Given the description of an element on the screen output the (x, y) to click on. 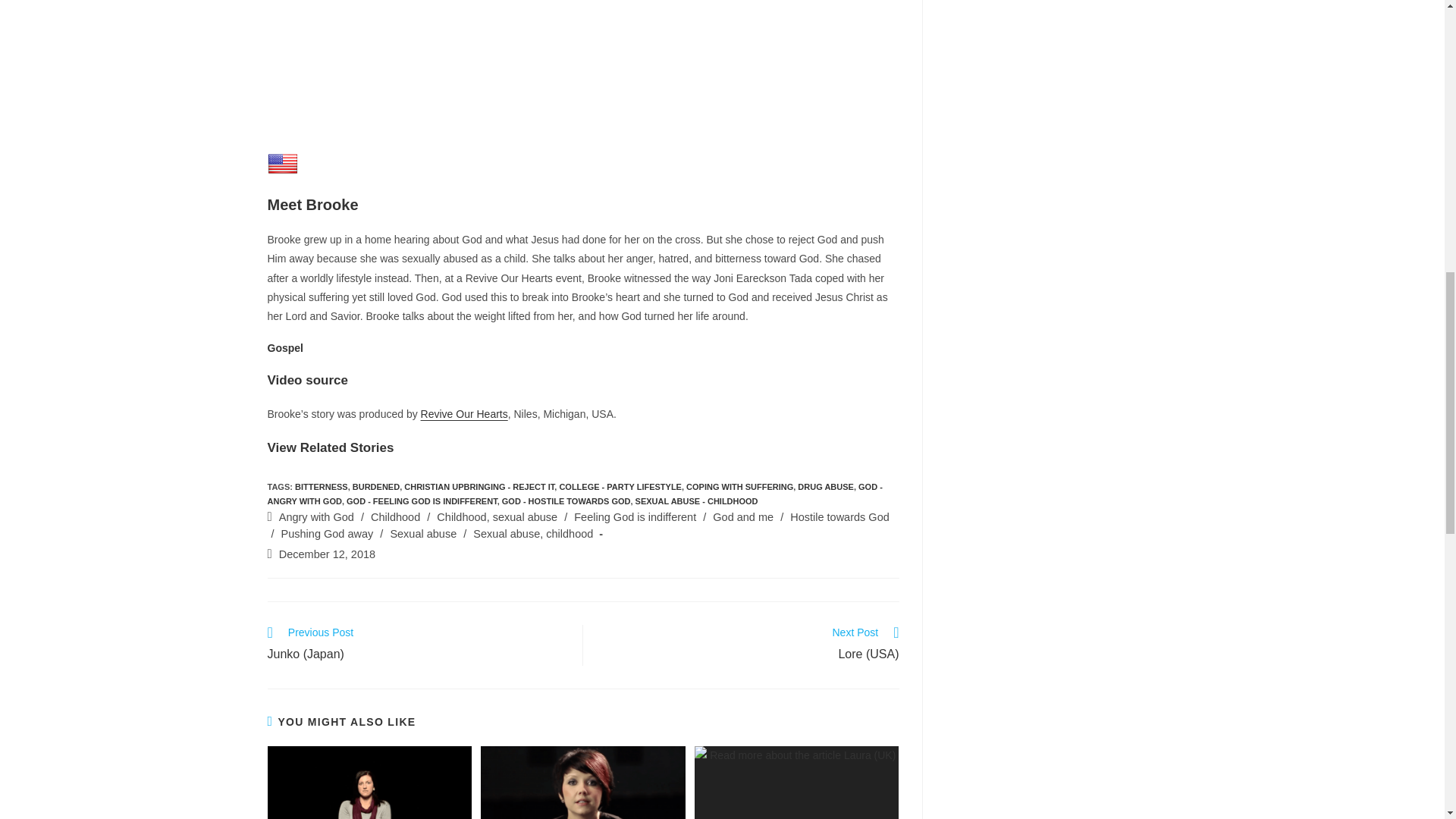
Childhood (395, 517)
CHRISTIAN UPBRINGING - REJECT IT (479, 486)
Hostile towards God (839, 517)
Angry with God (316, 517)
Sexual abuse (423, 533)
Feeling God is indifferent (634, 517)
GOD - HOSTILE TOWARDS GOD (566, 501)
GOD - ANGRY WITH GOD (574, 494)
GOD - FEELING GOD IS INDIFFERENT (421, 501)
DRUG ABUSE (825, 486)
